Given the description of an element on the screen output the (x, y) to click on. 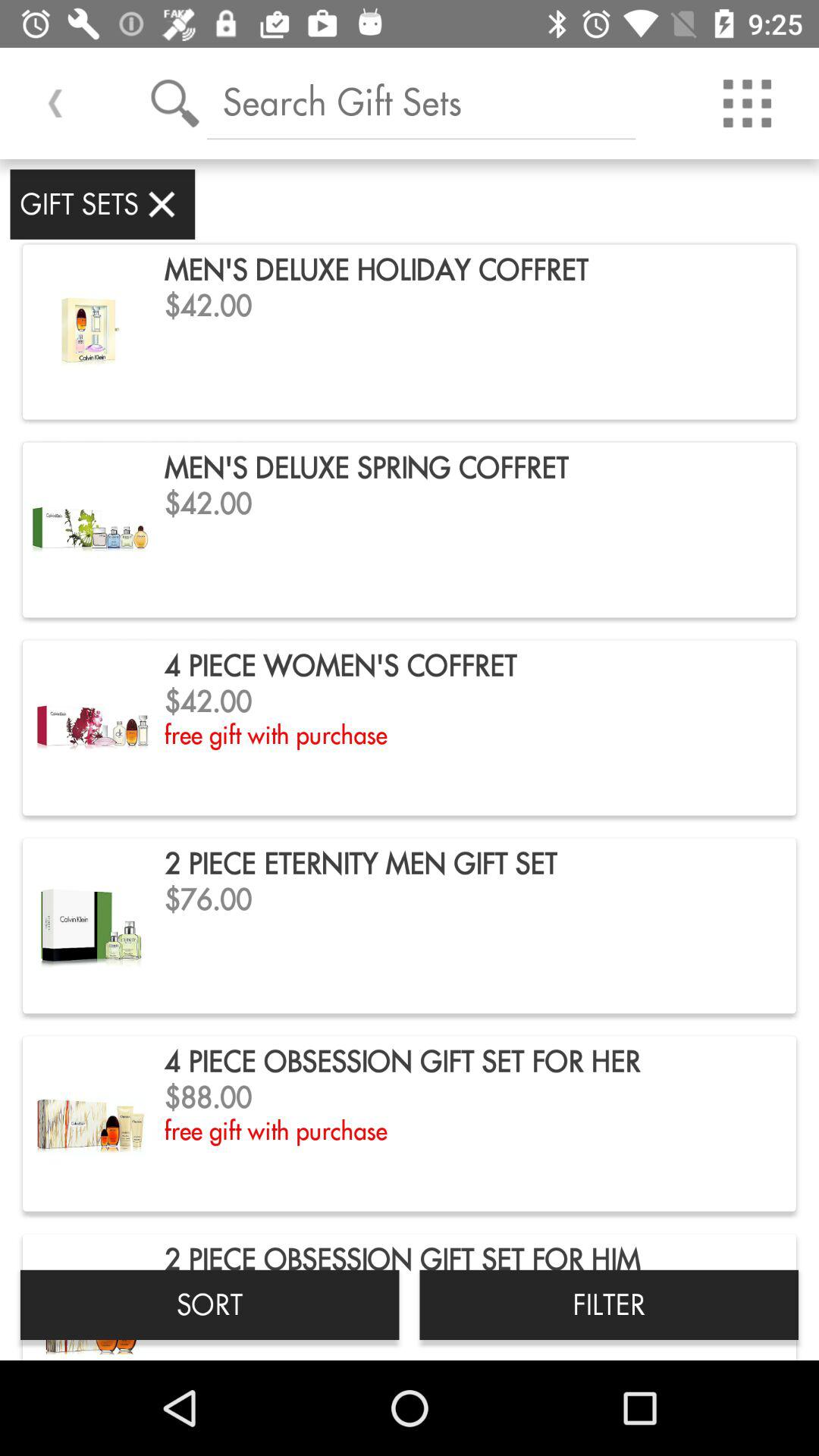
click the icon at the bottom right corner (608, 1304)
